Given the description of an element on the screen output the (x, y) to click on. 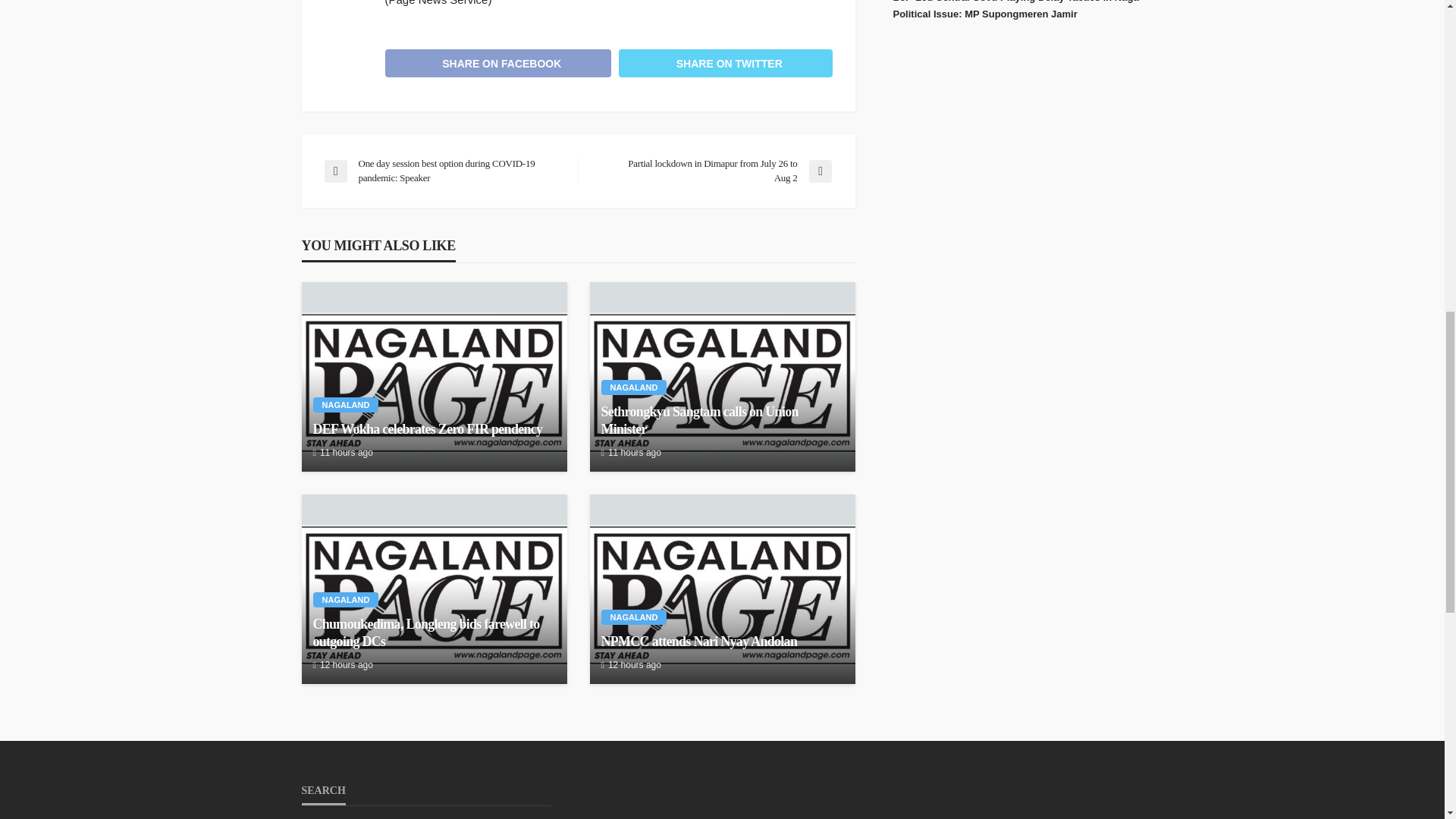
DEF Wokha celebrates Zero FIR pendency (434, 376)
DEF Wokha celebrates Zero FIR pendency 1 (434, 382)
Nagaland (345, 404)
Partial lockdown in Dimapur  from July 26 to Aug 2 (711, 170)
